Given the description of an element on the screen output the (x, y) to click on. 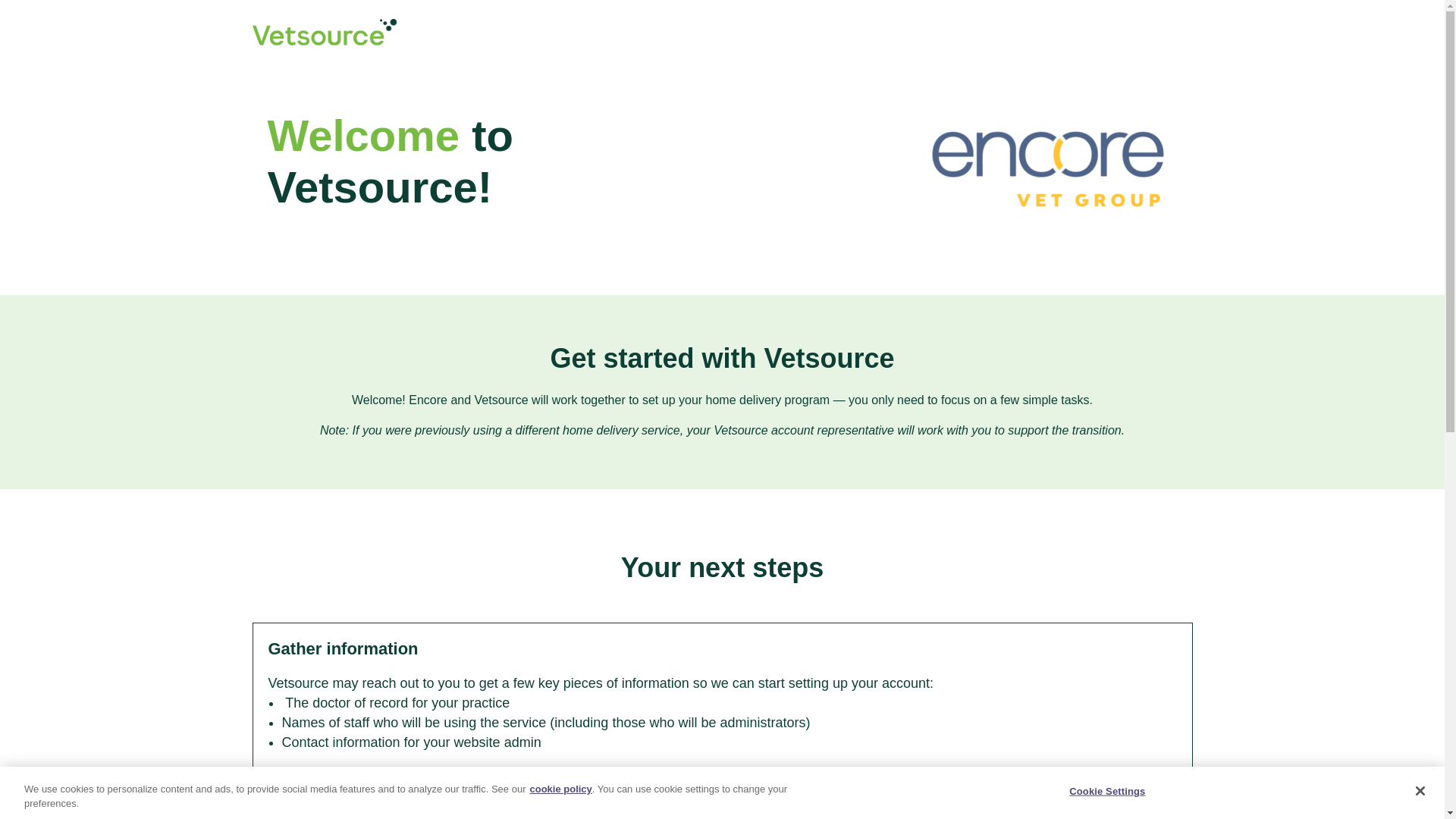
Cookie Settings (1106, 791)
Web Ready-Encore Vet Group Logo - Color (1049, 170)
Vetsource Logo (323, 31)
